Given the description of an element on the screen output the (x, y) to click on. 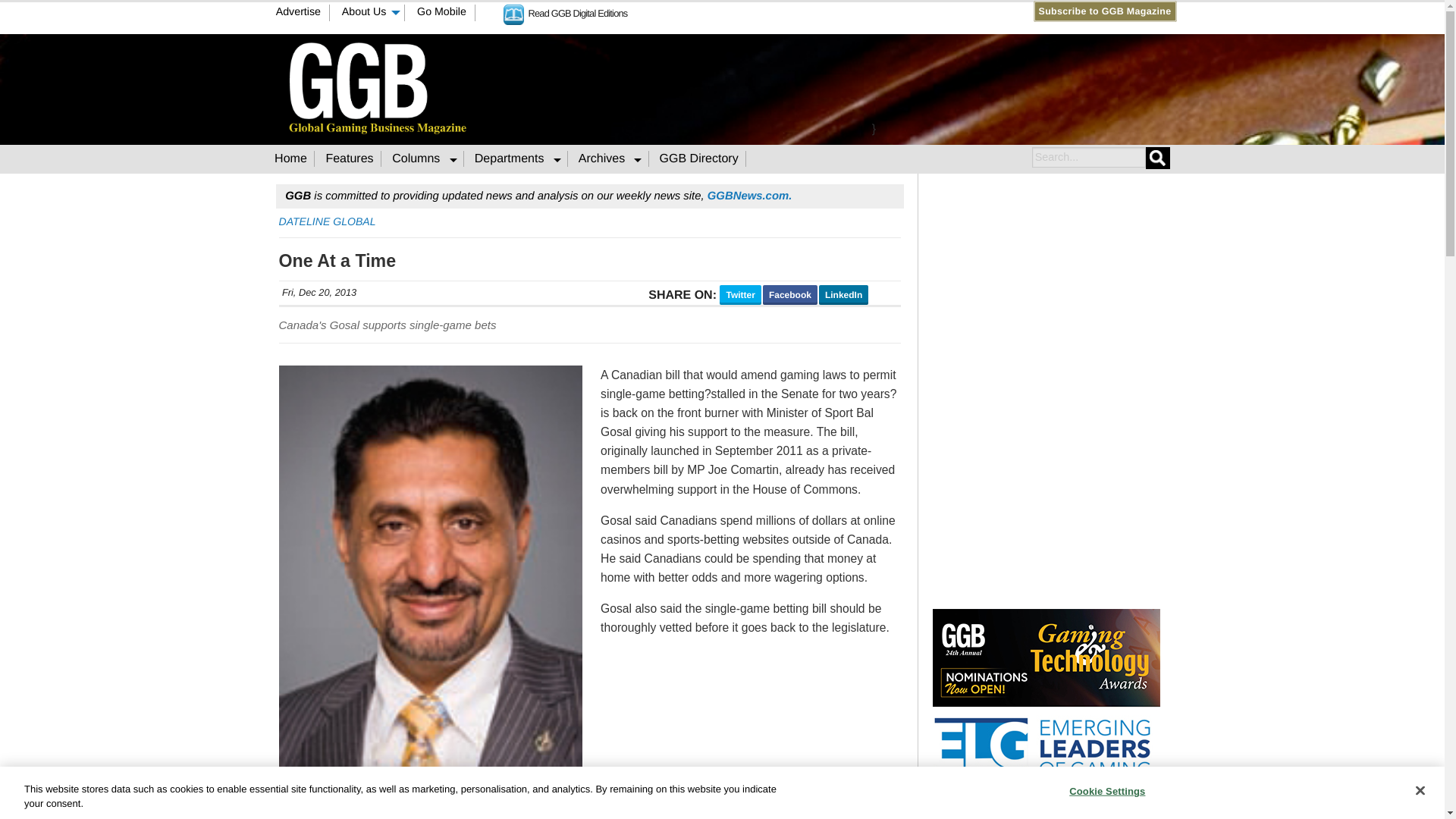
LinkedIn (781, 11)
GGB News (749, 196)
Facebook (752, 11)
About Us (369, 12)
Read GGB Digital Editions (565, 12)
Go Mobile (442, 12)
Search for: (1087, 157)
Advertise (298, 12)
GGB Directory (698, 158)
Twitter (767, 11)
3rd party ad content (873, 86)
